Given the description of an element on the screen output the (x, y) to click on. 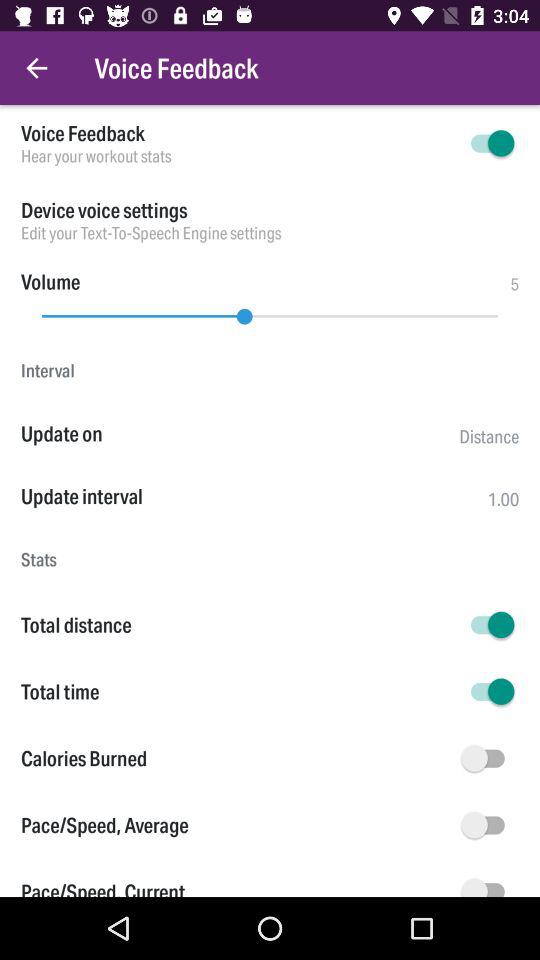
turn on volume item (50, 281)
